Given the description of an element on the screen output the (x, y) to click on. 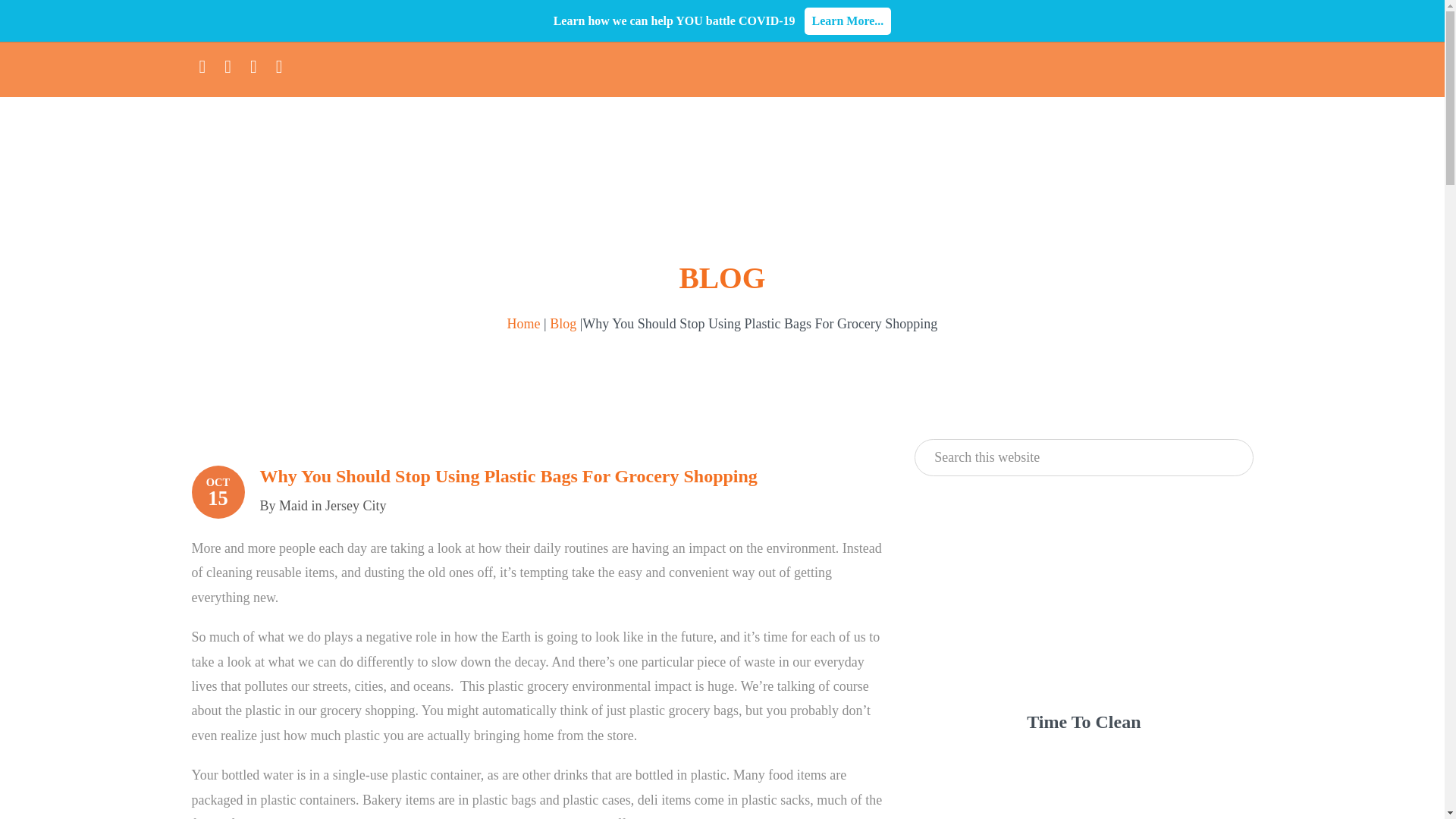
Get A Quote (1083, 752)
Why You Should Stop Using Plastic Bags For Grocery Shopping (508, 476)
Home (523, 323)
maid in hoboken nj logo (282, 162)
Blog (563, 323)
Learn More... (848, 21)
